Given the description of an element on the screen output the (x, y) to click on. 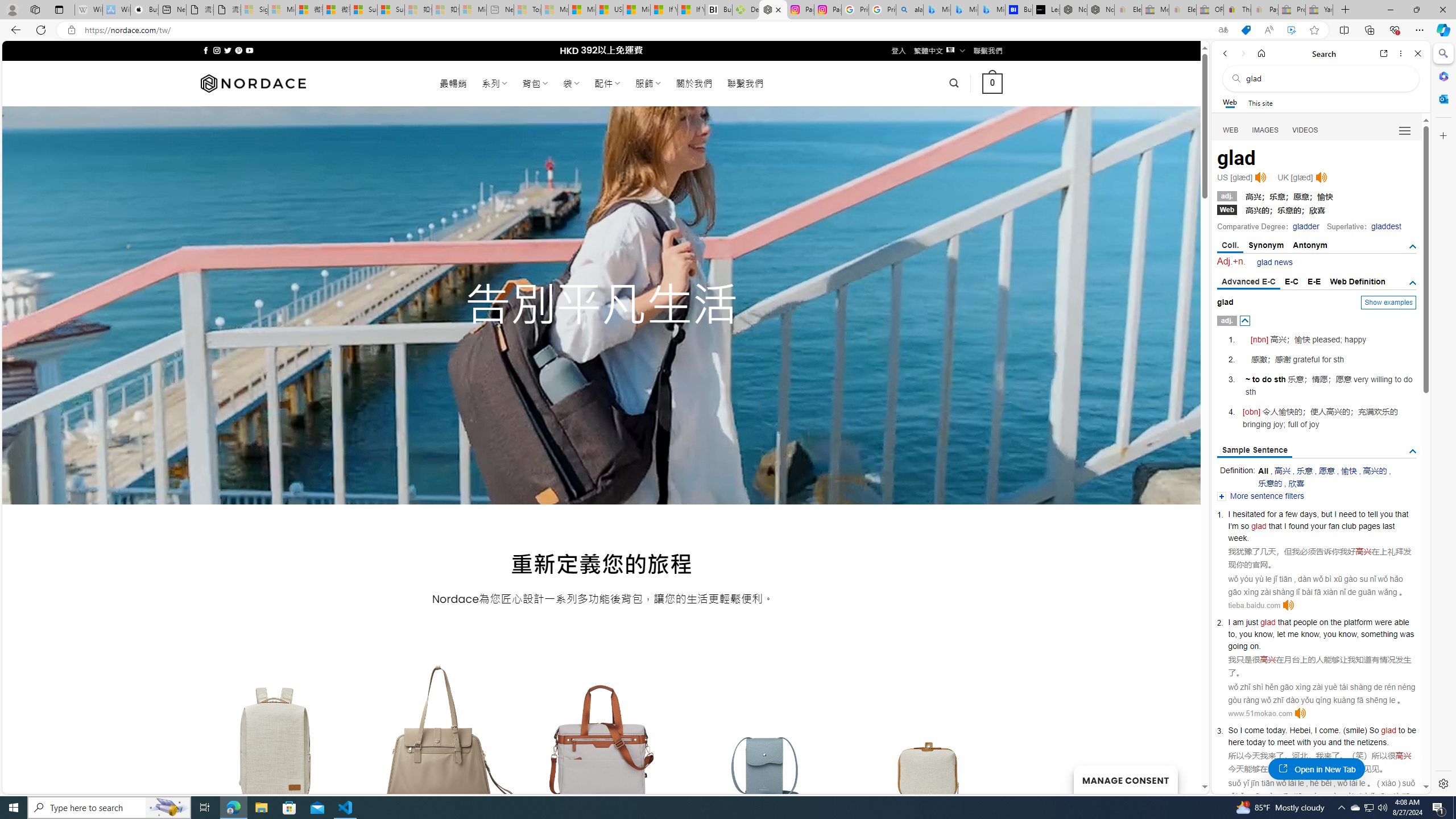
Microsoft Bing Travel - Shangri-La Hotel Bangkok (991, 9)
week (1237, 537)
Coll. (1230, 246)
